Given the description of an element on the screen output the (x, y) to click on. 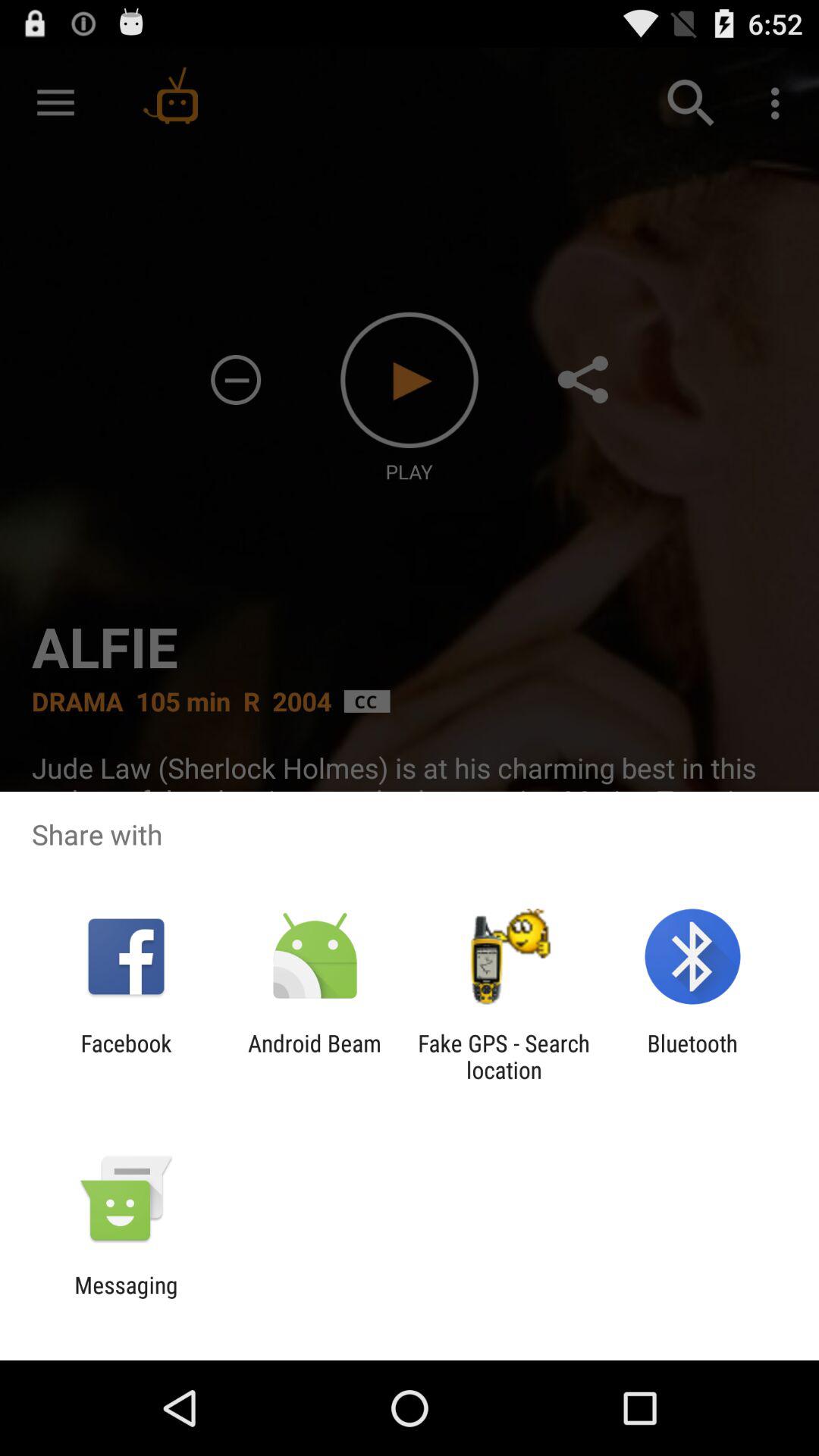
turn off the icon at the bottom right corner (692, 1056)
